Given the description of an element on the screen output the (x, y) to click on. 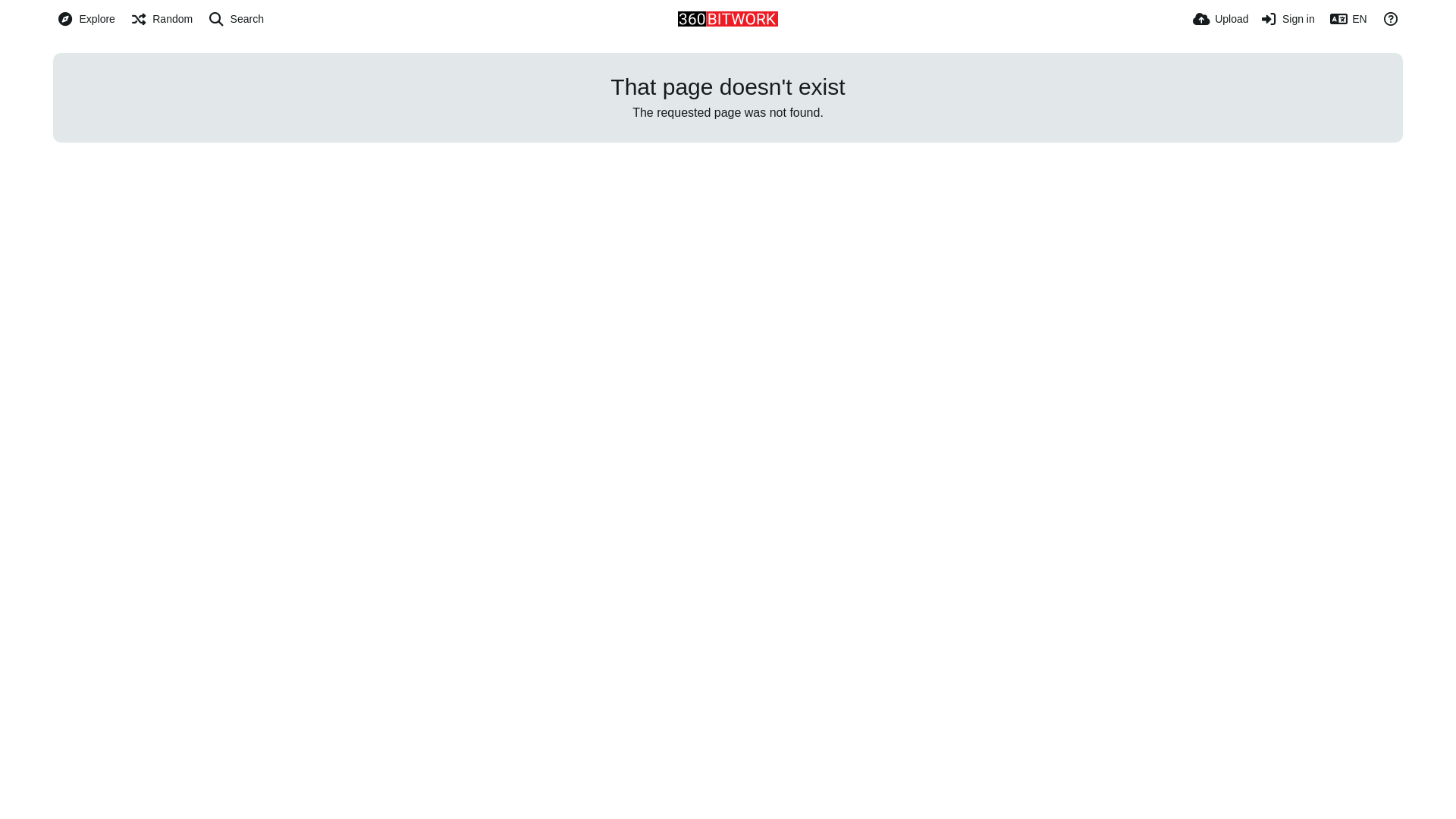
Sign in Element type: text (1287, 18)
Upload Element type: text (1220, 18)
Random Element type: text (161, 18)
